Given the description of an element on the screen output the (x, y) to click on. 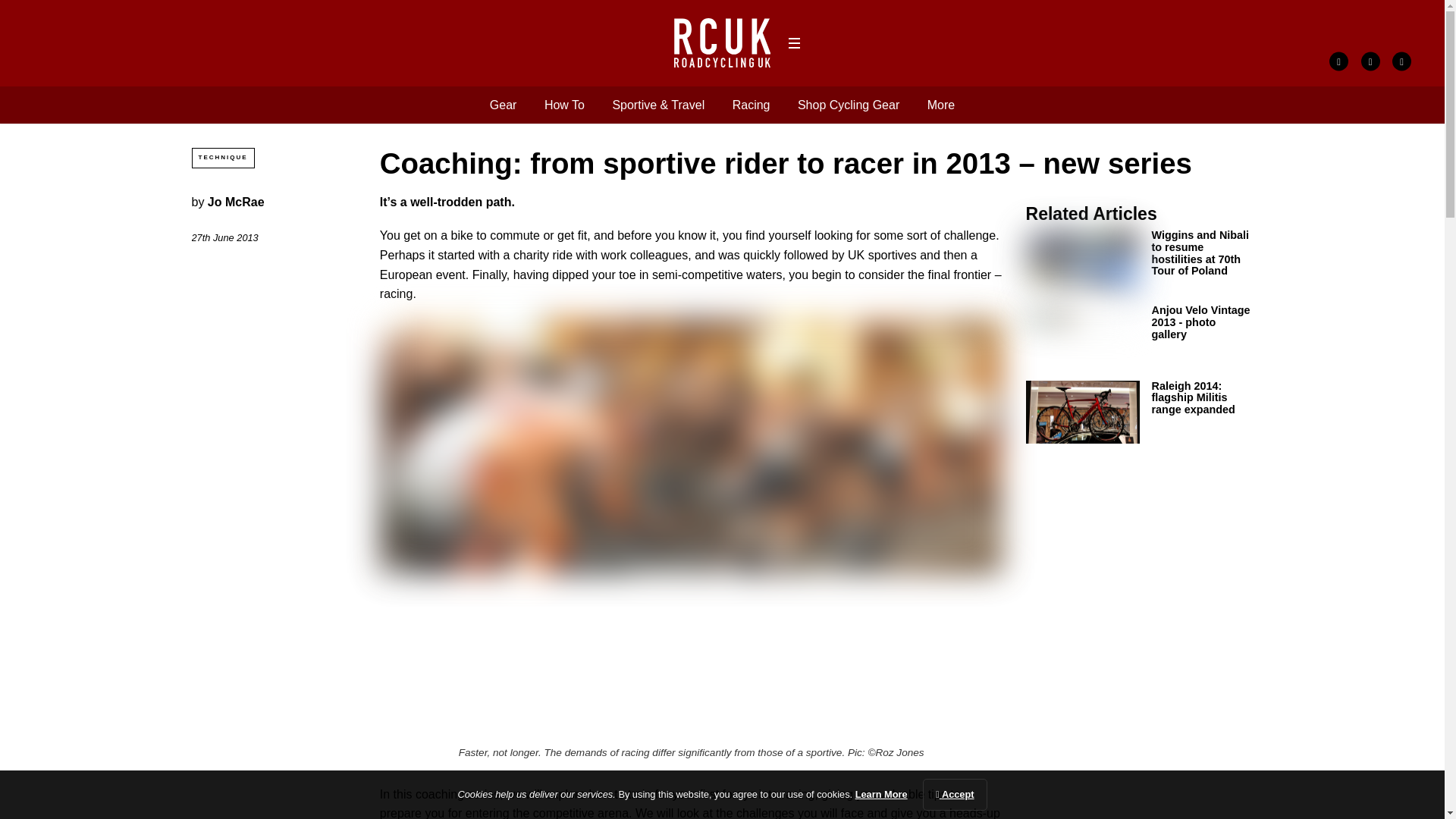
Menu (794, 42)
Shop Cycling Gear (848, 104)
How To (564, 104)
Find us on Facebook (1338, 61)
Gear (502, 104)
Racing (751, 104)
Follow us on Twitter (1370, 61)
Find us on Instagram (1400, 61)
More (941, 104)
